Given the description of an element on the screen output the (x, y) to click on. 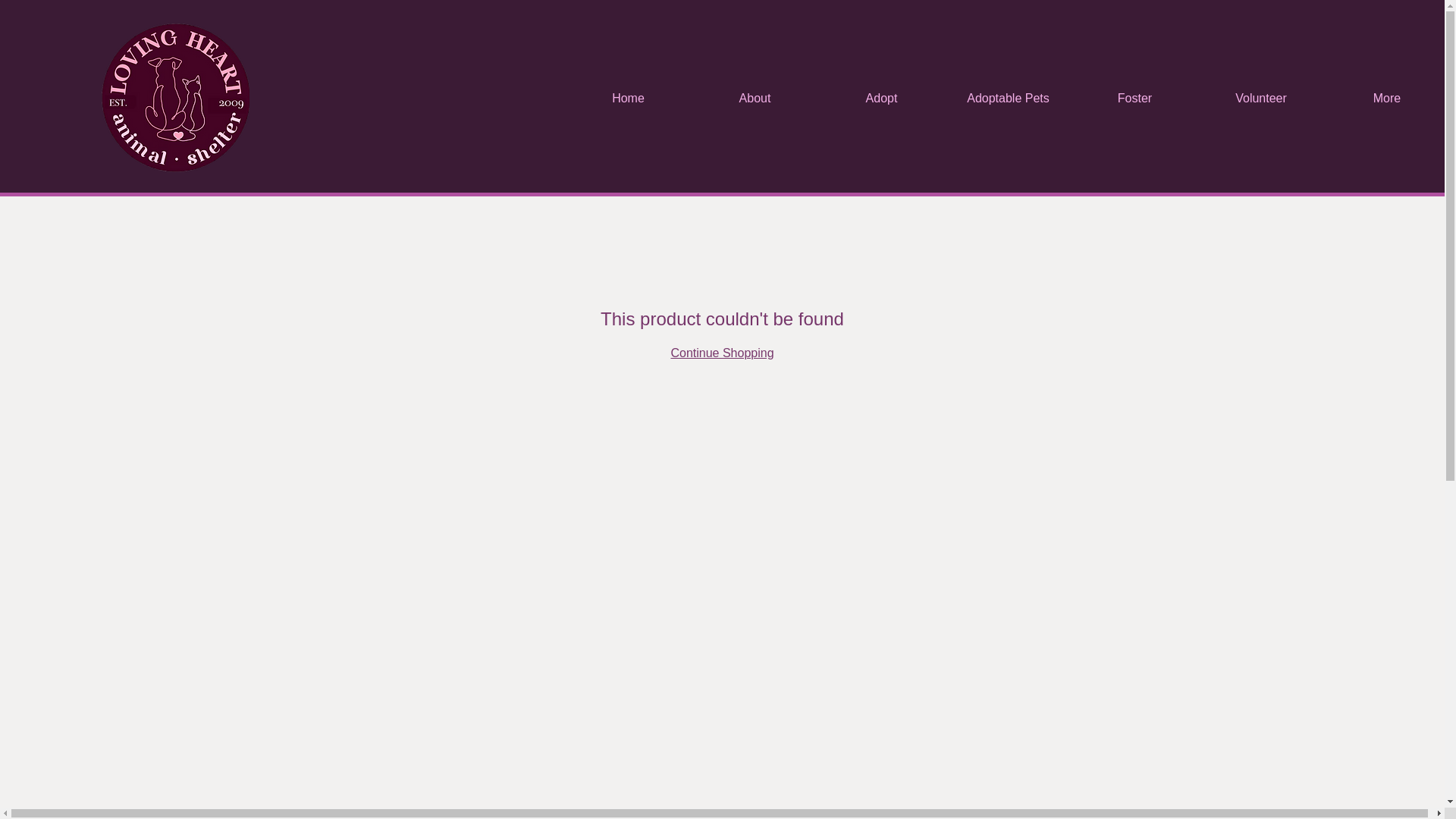
Adoptable Pets (1007, 98)
Continue Shopping (721, 352)
Adopt (881, 98)
Home (627, 98)
About (754, 98)
Volunteer (1260, 98)
Foster (1134, 98)
